Given the description of an element on the screen output the (x, y) to click on. 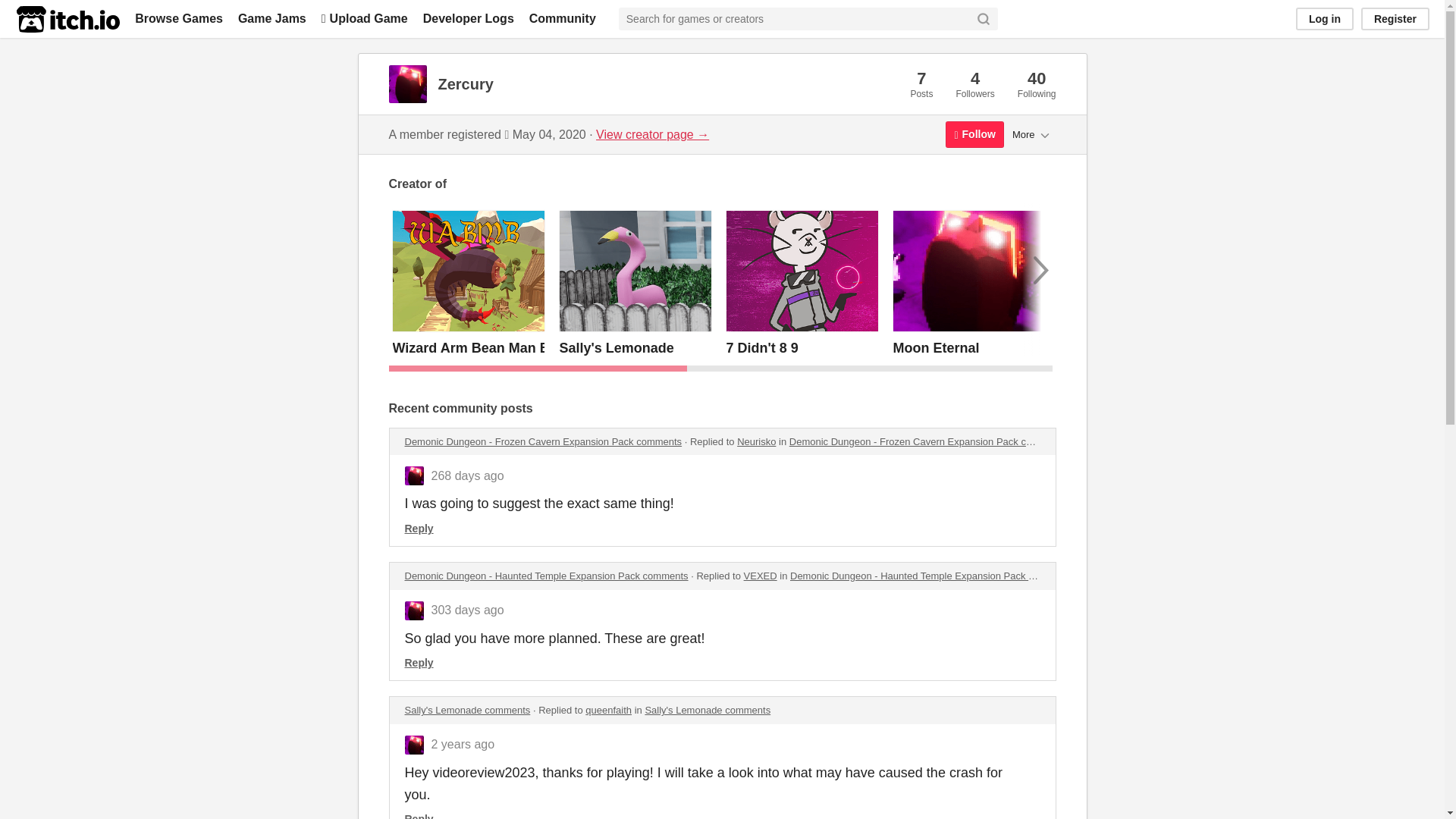
Upload Game (364, 18)
Community (562, 18)
Game Jams (271, 18)
Developer Logs (468, 18)
Wizard Arm Bean Man Brawl (484, 347)
Follow (973, 134)
Moon Eternal (936, 347)
2023-10-13 17:59:26 (466, 609)
itch.io (67, 18)
